Given the description of an element on the screen output the (x, y) to click on. 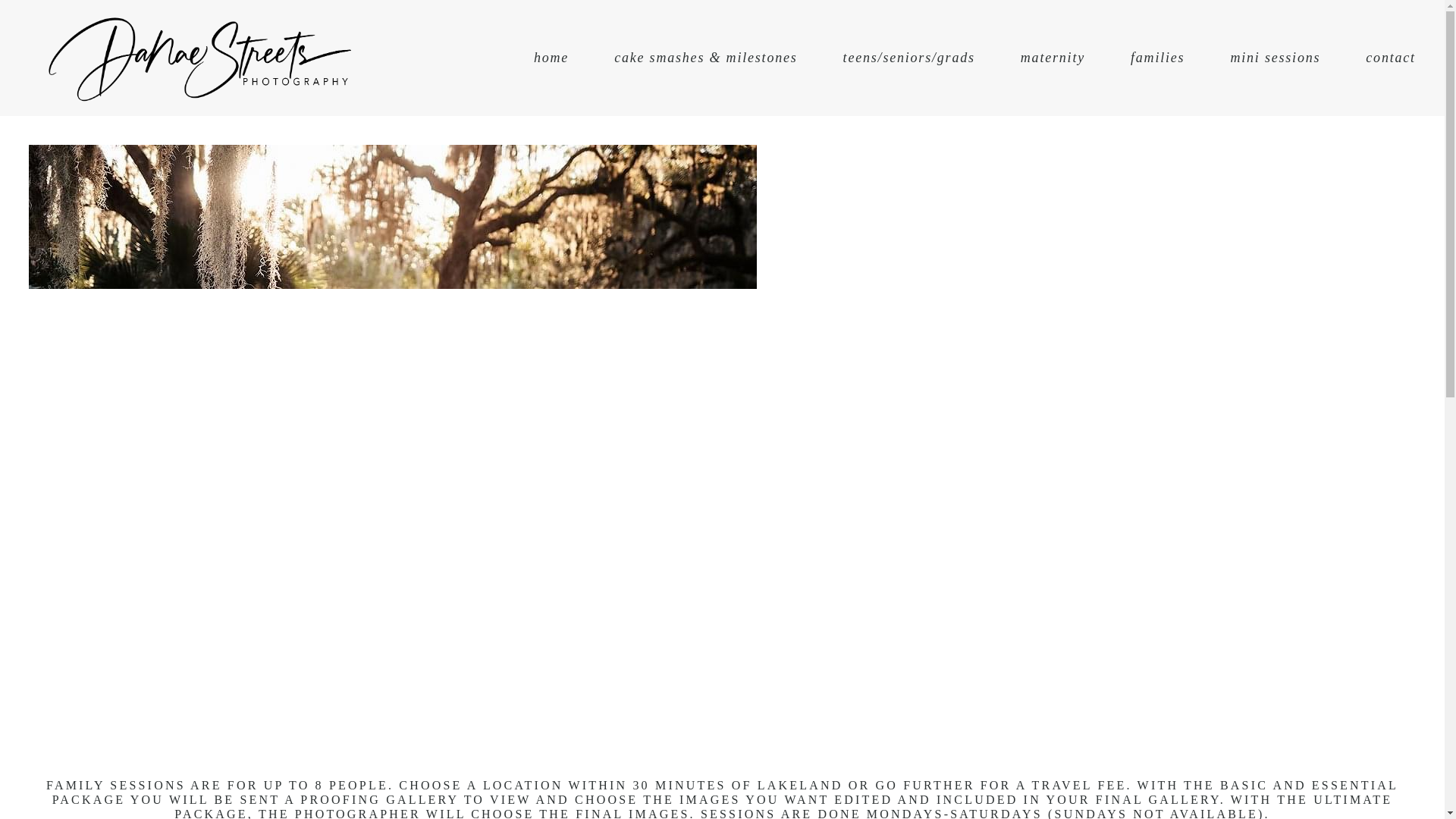
mini sessions (1275, 57)
families (1158, 57)
maternity (1052, 57)
contact (1390, 57)
home (551, 57)
